Given the description of an element on the screen output the (x, y) to click on. 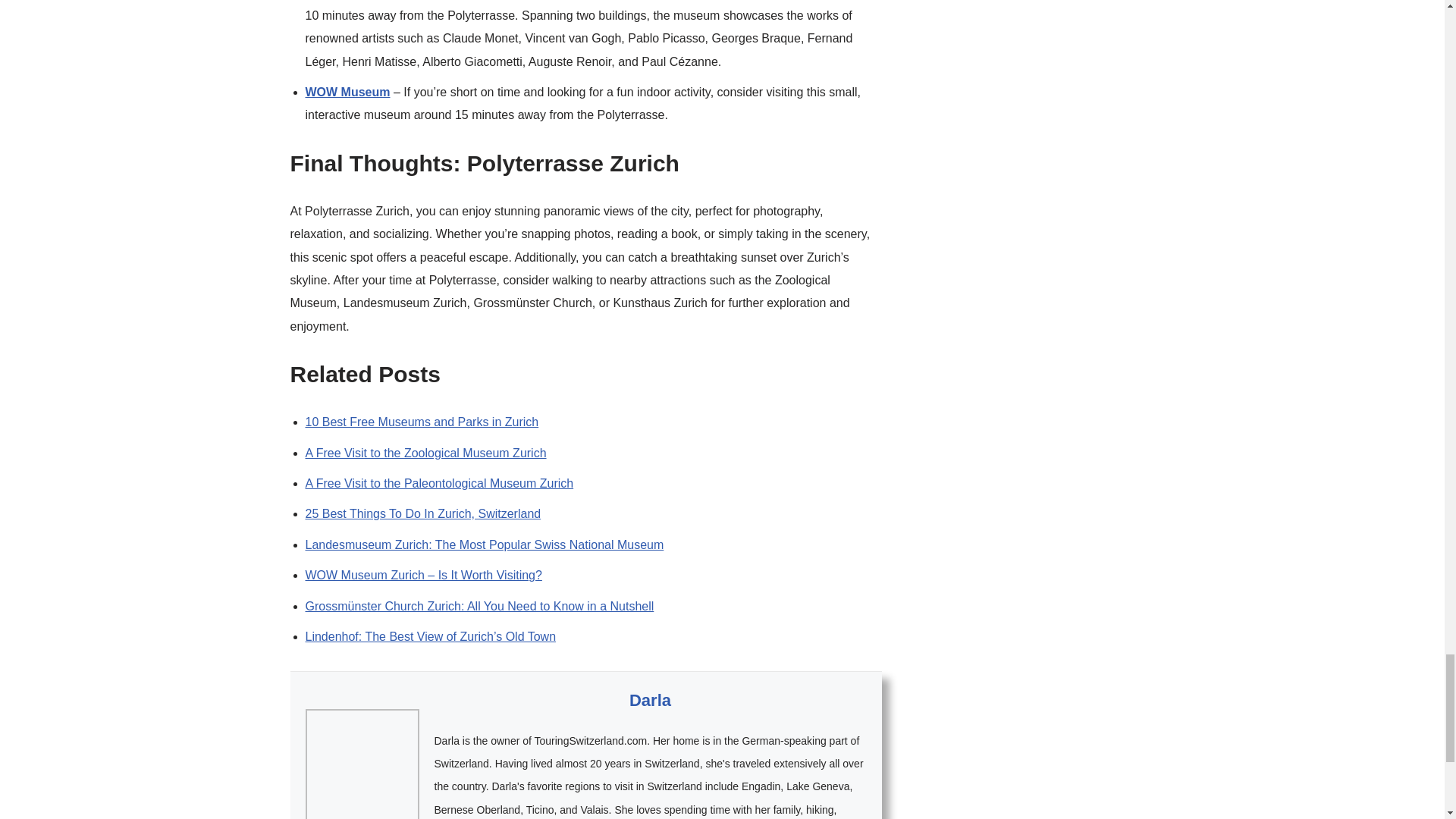
Landesmuseum Zurich: The Most Popular Swiss National Museum (483, 544)
25 Best Things To Do In Zurich, Switzerland (422, 513)
A Free Visit to the Paleontological Museum Zurich (438, 482)
A Free Visit to the Zoological Museum Zurich (425, 452)
10 Best Free Museums and Parks in Zurich (421, 421)
